Given the description of an element on the screen output the (x, y) to click on. 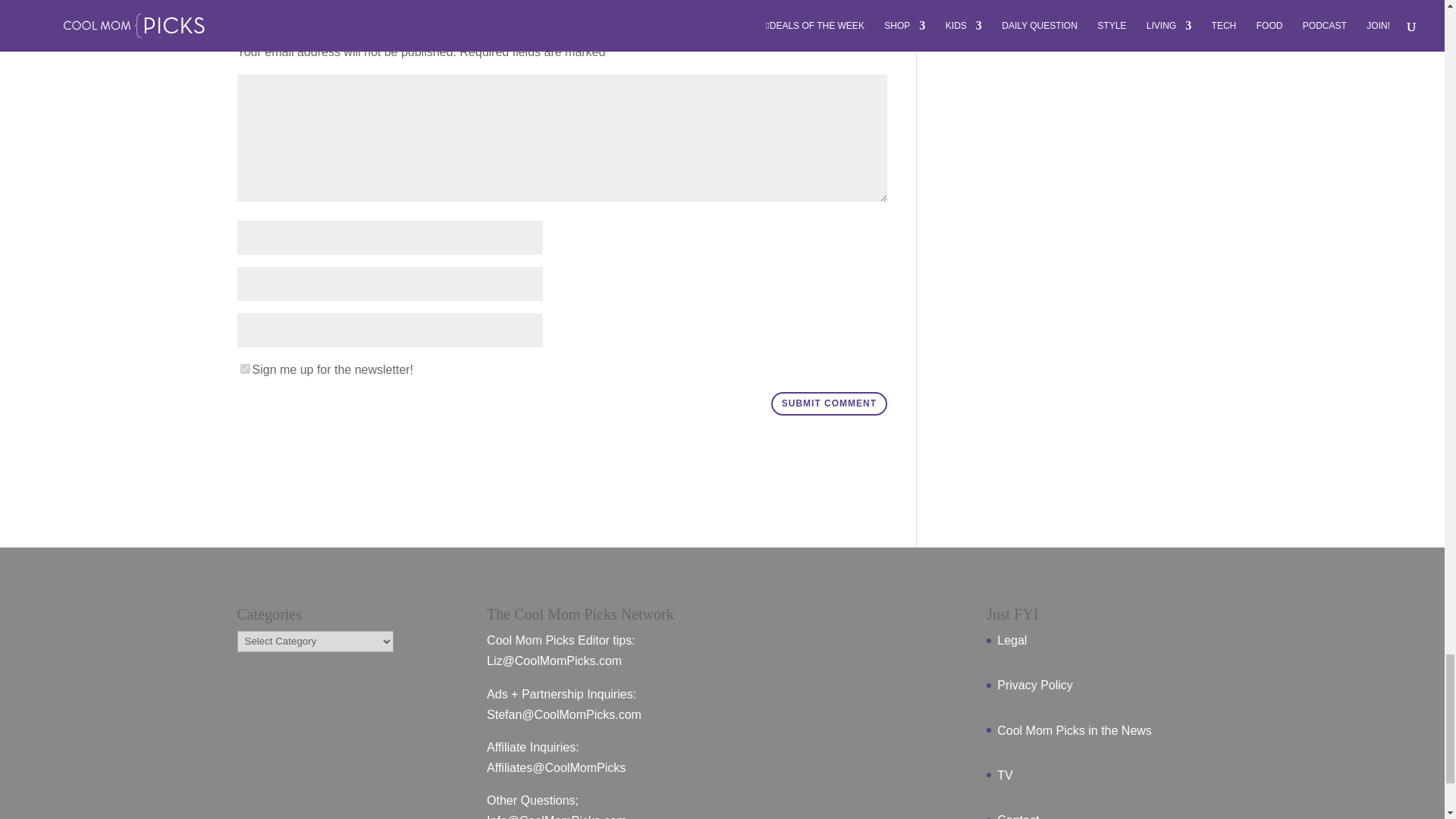
Submit Comment (828, 404)
1 (244, 368)
